Given the description of an element on the screen output the (x, y) to click on. 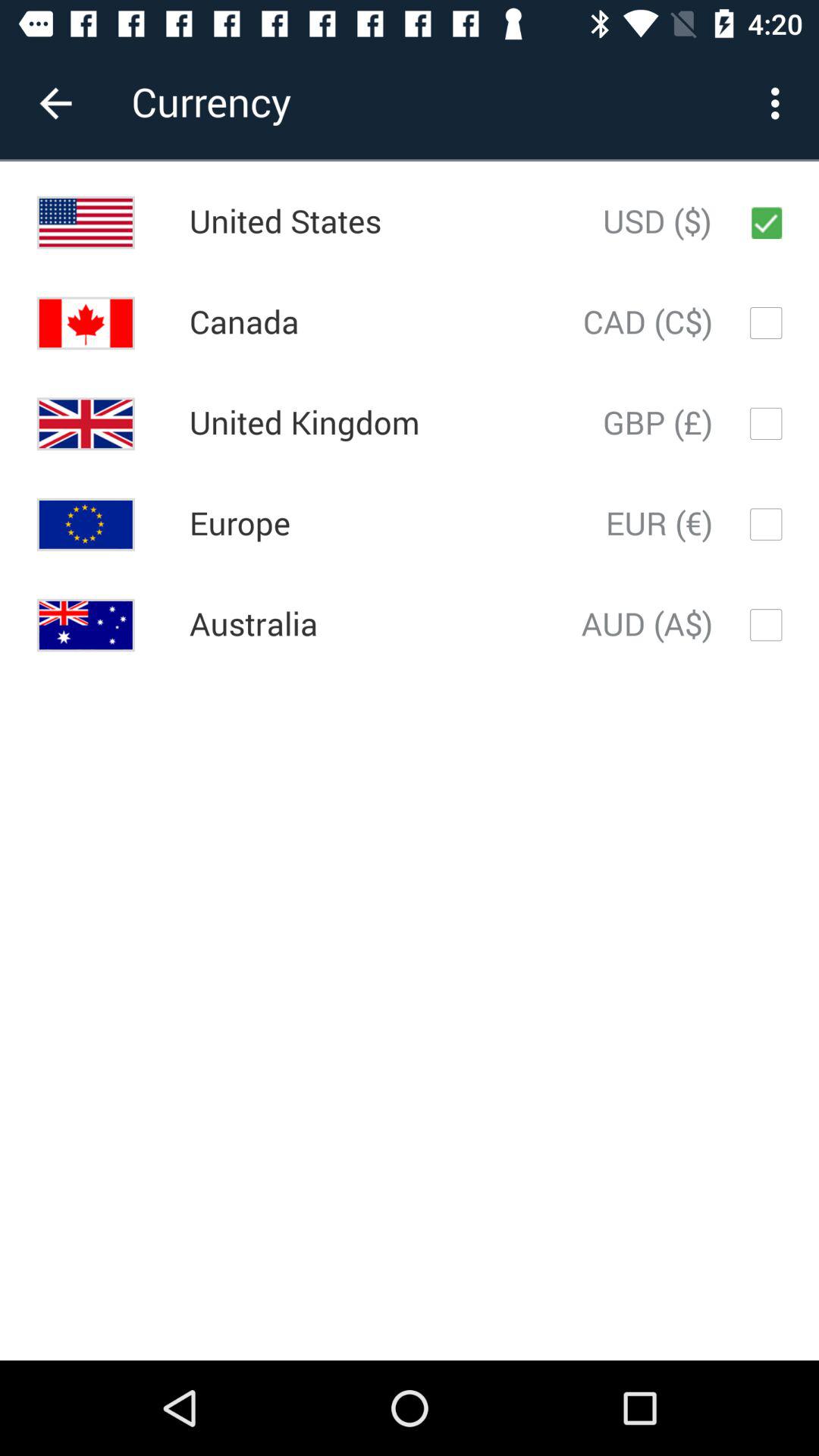
jump until the usd ($) icon (657, 222)
